Given the description of an element on the screen output the (x, y) to click on. 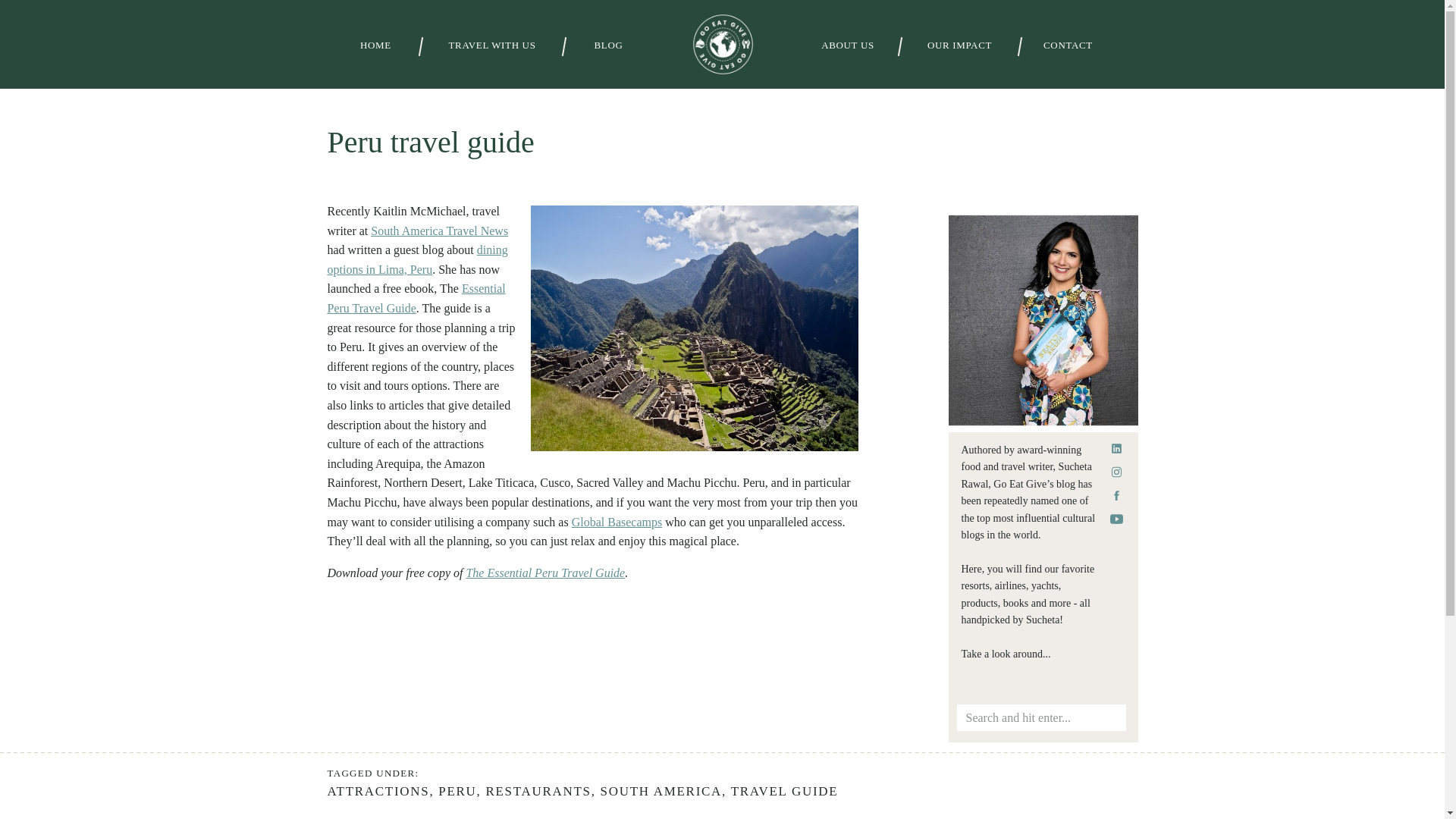
dining in Lima (417, 259)
OUR IMPACT (959, 46)
TRAVEL WITH US (491, 46)
Global Basecamps (617, 521)
ABOUT US (847, 46)
Essential Peru Travel Guide (416, 297)
ATTRACTIONS (378, 790)
RESTAURANTS (537, 790)
Peru-travel-guide (416, 297)
SOUTH AMERICA (660, 790)
